Given the description of an element on the screen output the (x, y) to click on. 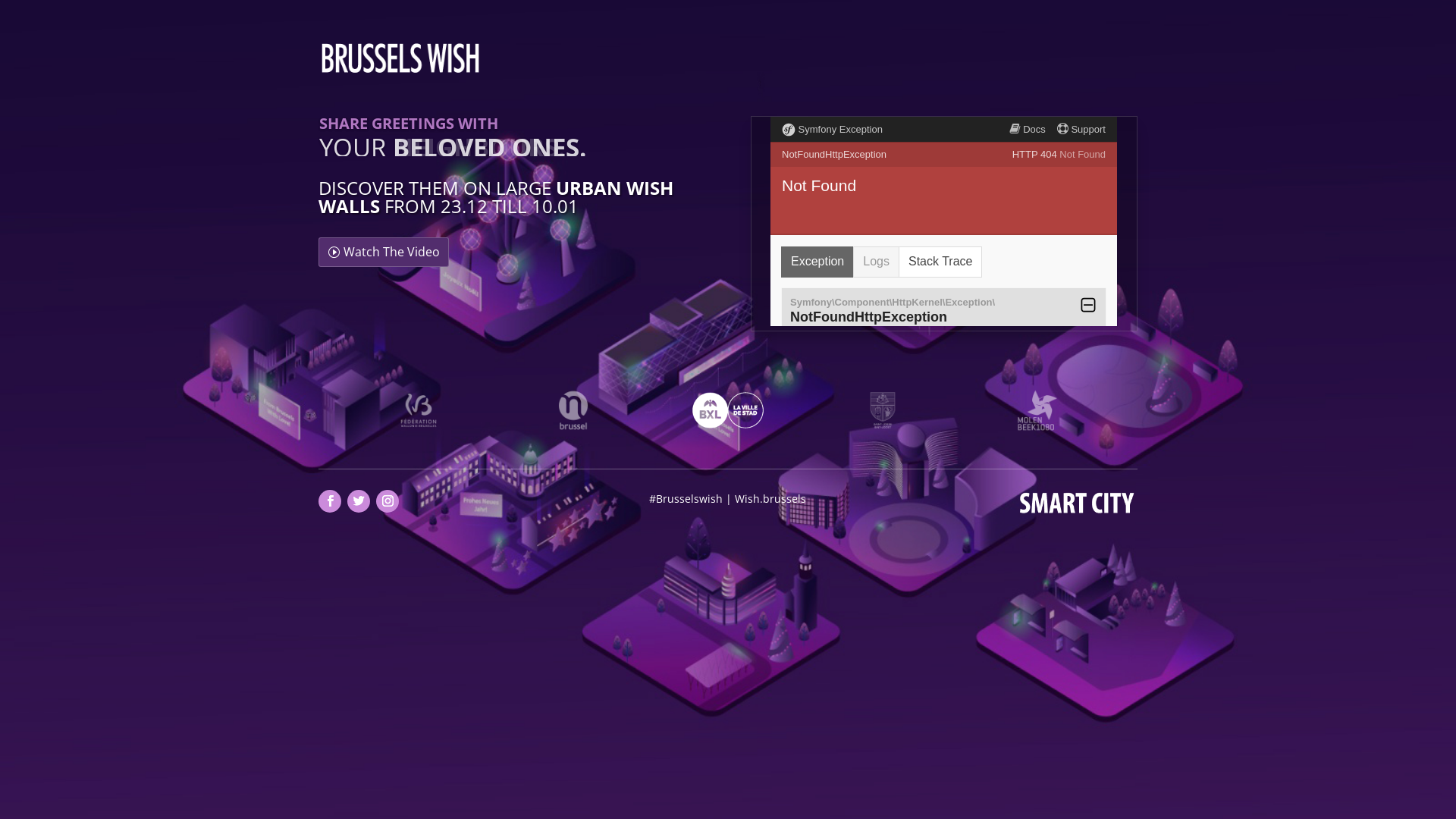
Suivez sur Instagram Element type: hover (387, 500)
Suivez sur Facebook Element type: hover (329, 500)
Watch The Video Element type: text (383, 251)
smart_city_logo Element type: hover (1076, 501)
Suivez sur Twitter Element type: hover (358, 500)
brussels_wish_logo Element type: hover (400, 57)
